Given the description of an element on the screen output the (x, y) to click on. 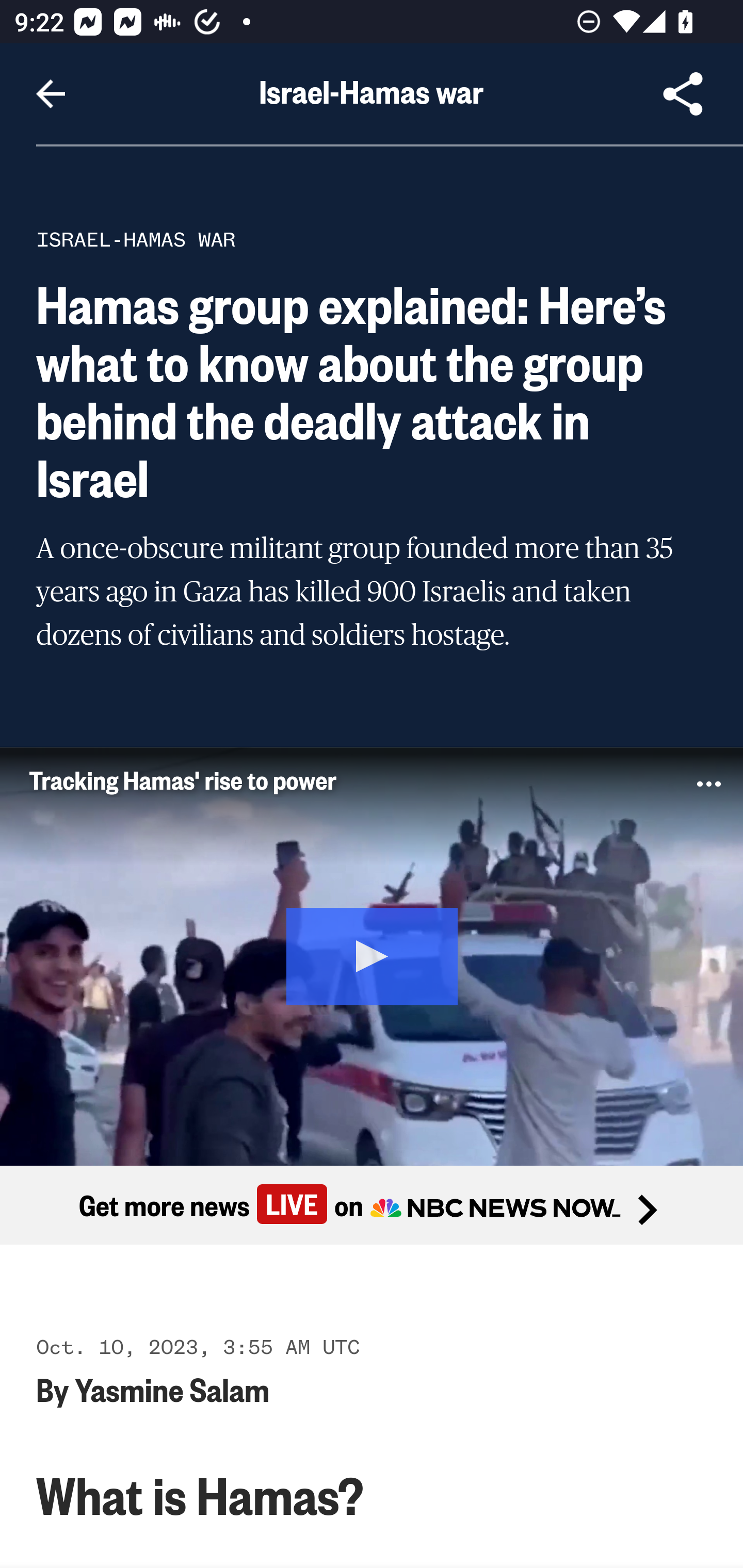
Navigate up (50, 93)
Share Article, button (683, 94)
ISRAEL-HAMAS WAR (136, 239)
Video Player Unable to play media. Play   (371, 955)
Tracking Hamas' rise to power (336, 779)
Play (372, 954)
Get more news Live on Get more news Live on (371, 1203)
